Given the description of an element on the screen output the (x, y) to click on. 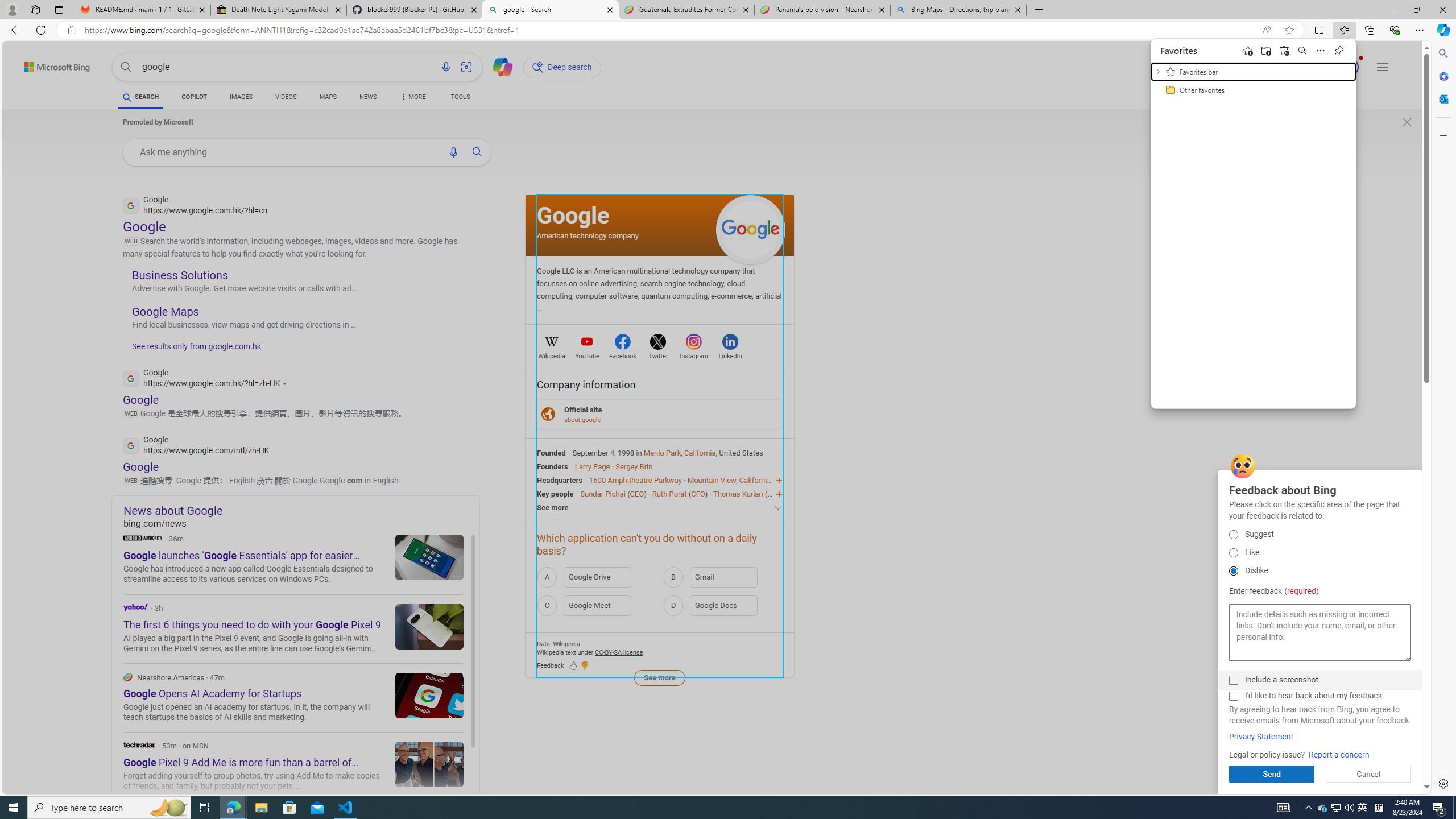
google - Search (550, 9)
Cancel (1368, 773)
Send (1271, 773)
Add folder (1265, 49)
Report a concern (1339, 755)
I'd like to hear back about my feedback (1232, 696)
Action Center, 2 new notifications (1439, 807)
